Given the description of an element on the screen output the (x, y) to click on. 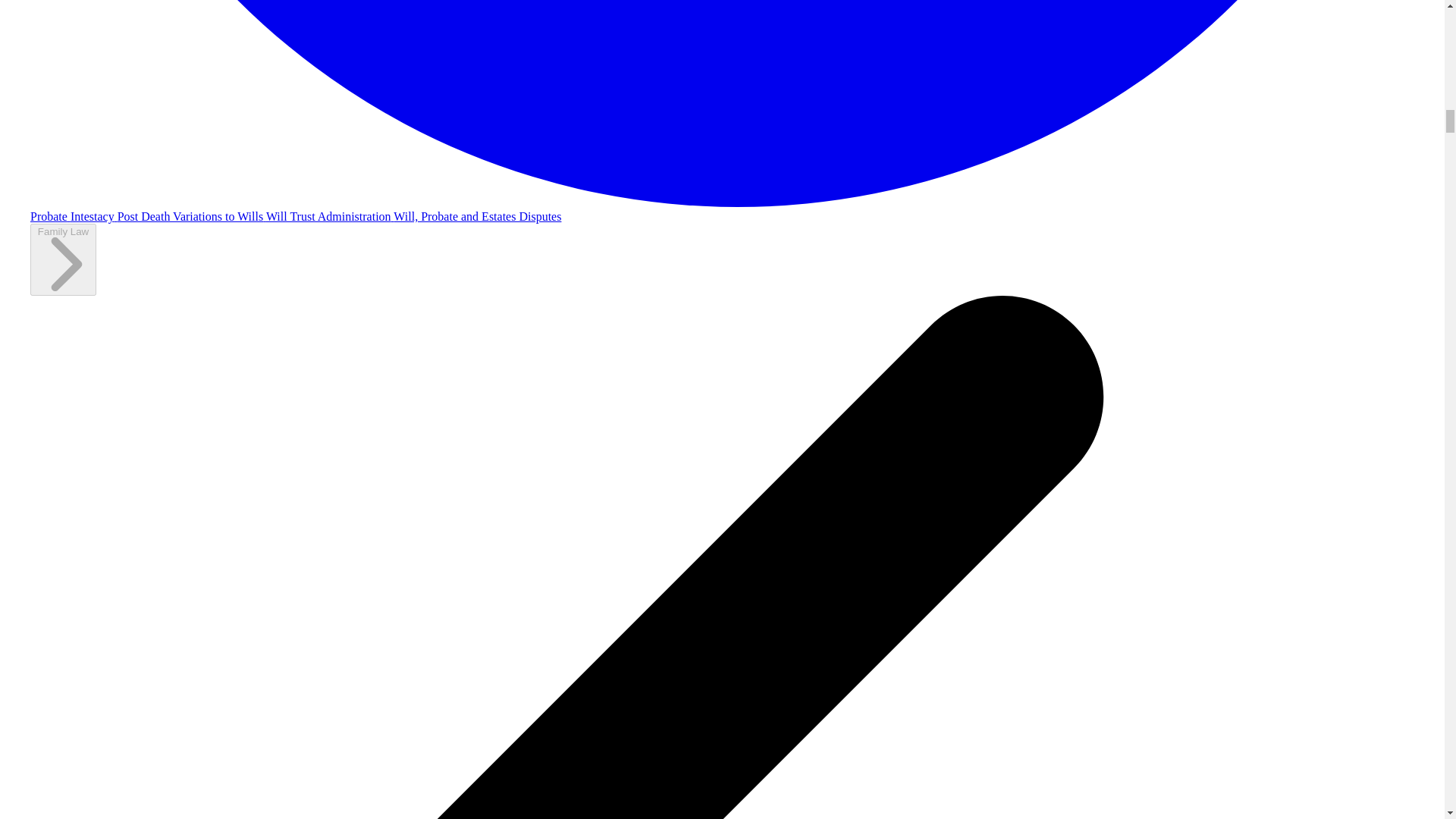
Intestacy (93, 215)
Will Trust Administration (329, 215)
Family Law (63, 259)
Probate (49, 215)
Will, Probate and Estates Disputes (476, 215)
Post Death Variations to Wills (191, 215)
